Given the description of an element on the screen output the (x, y) to click on. 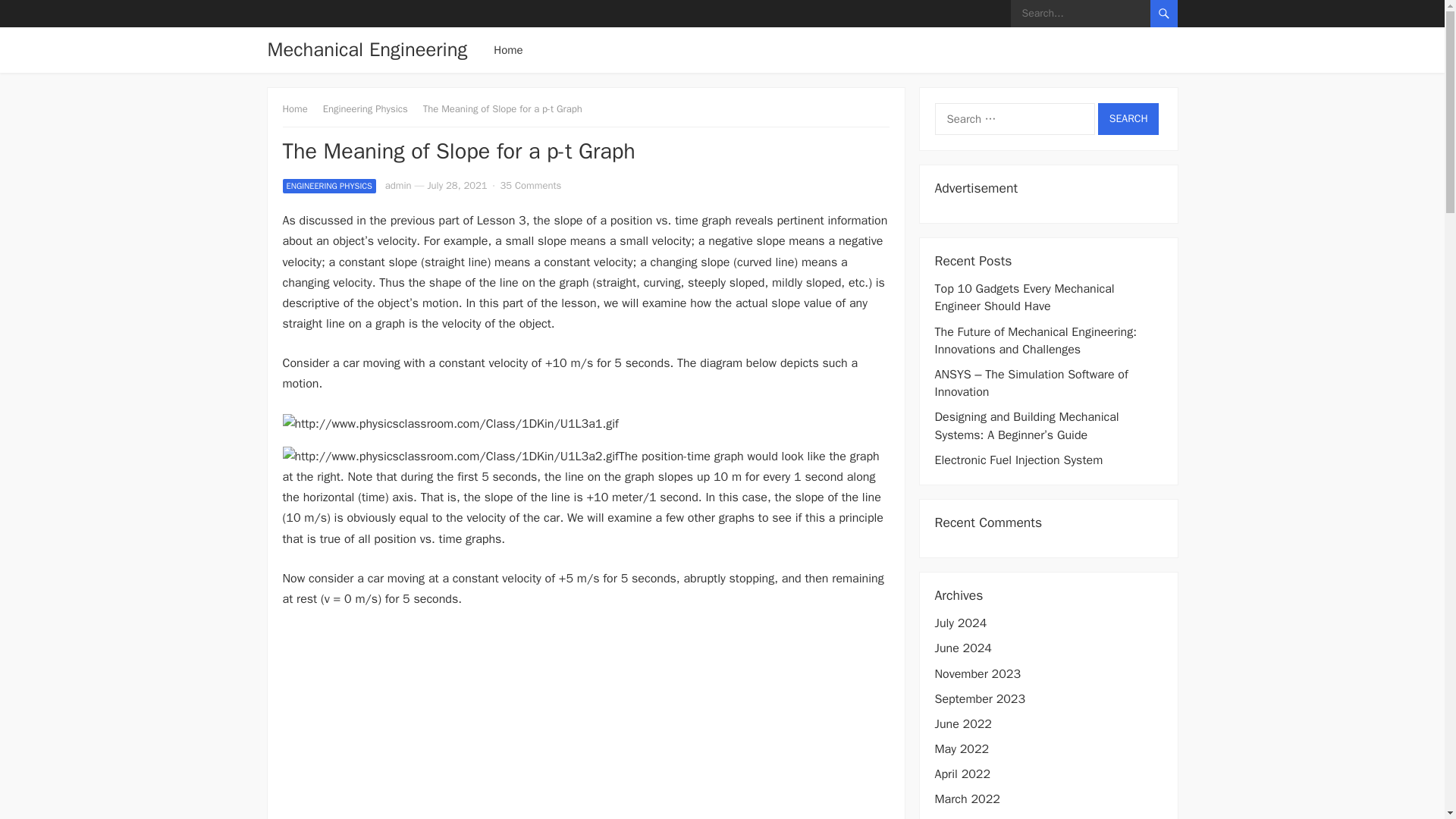
Electronic Fuel Injection System (1018, 459)
September 2023 (979, 698)
June 2022 (962, 724)
Home (299, 108)
ENGINEERING PHYSICS (328, 186)
admin (398, 185)
35 Comments (531, 185)
June 2024 (962, 648)
Search (1127, 119)
